Given the description of an element on the screen output the (x, y) to click on. 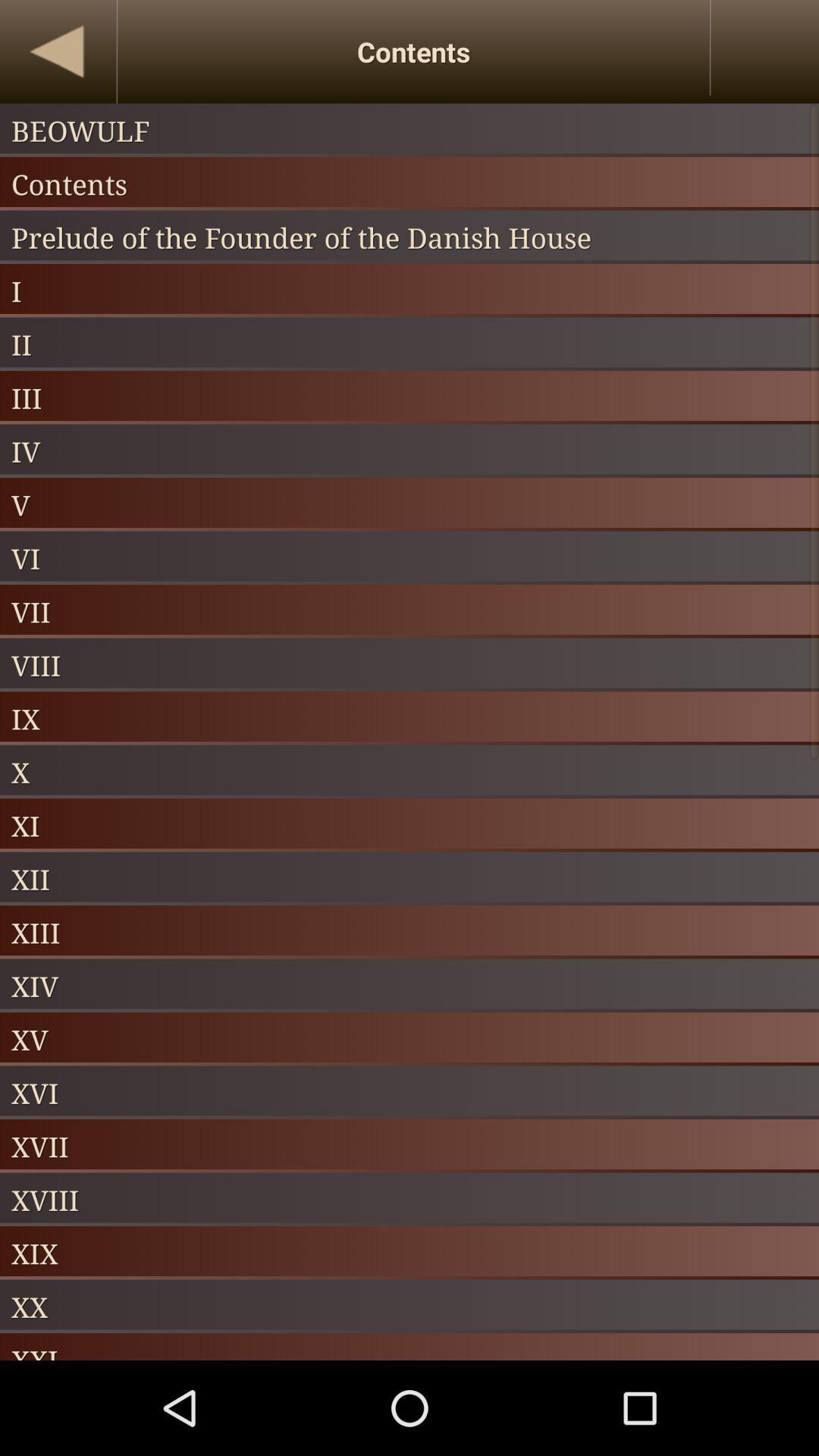
tap item next to the contents icon (58, 51)
